Given the description of an element on the screen output the (x, y) to click on. 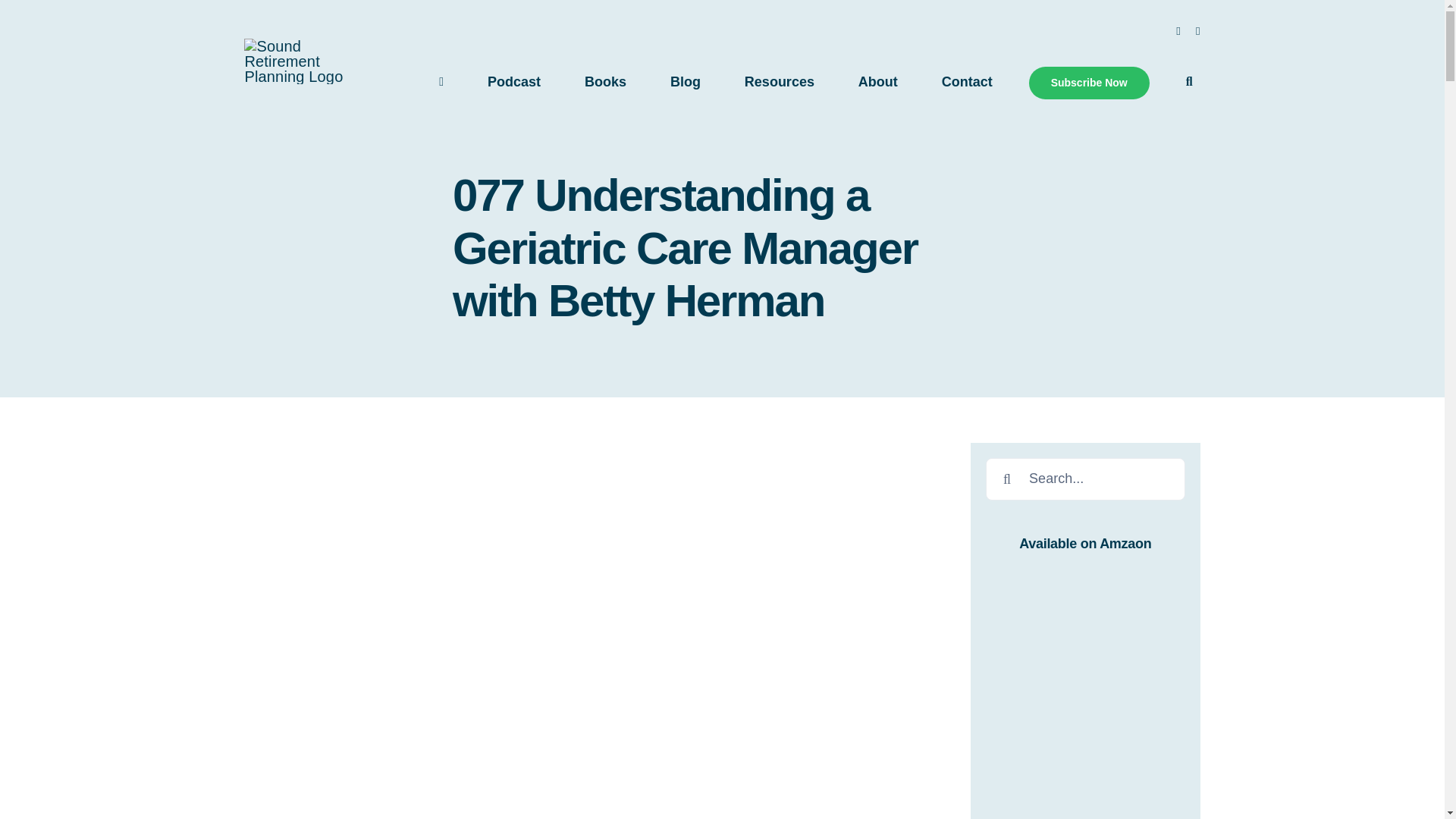
About (877, 82)
Contact (967, 82)
Resources (779, 82)
Books (604, 82)
Subscribe Now (1089, 82)
Podcast (514, 82)
Blog (684, 82)
